Given the description of an element on the screen output the (x, y) to click on. 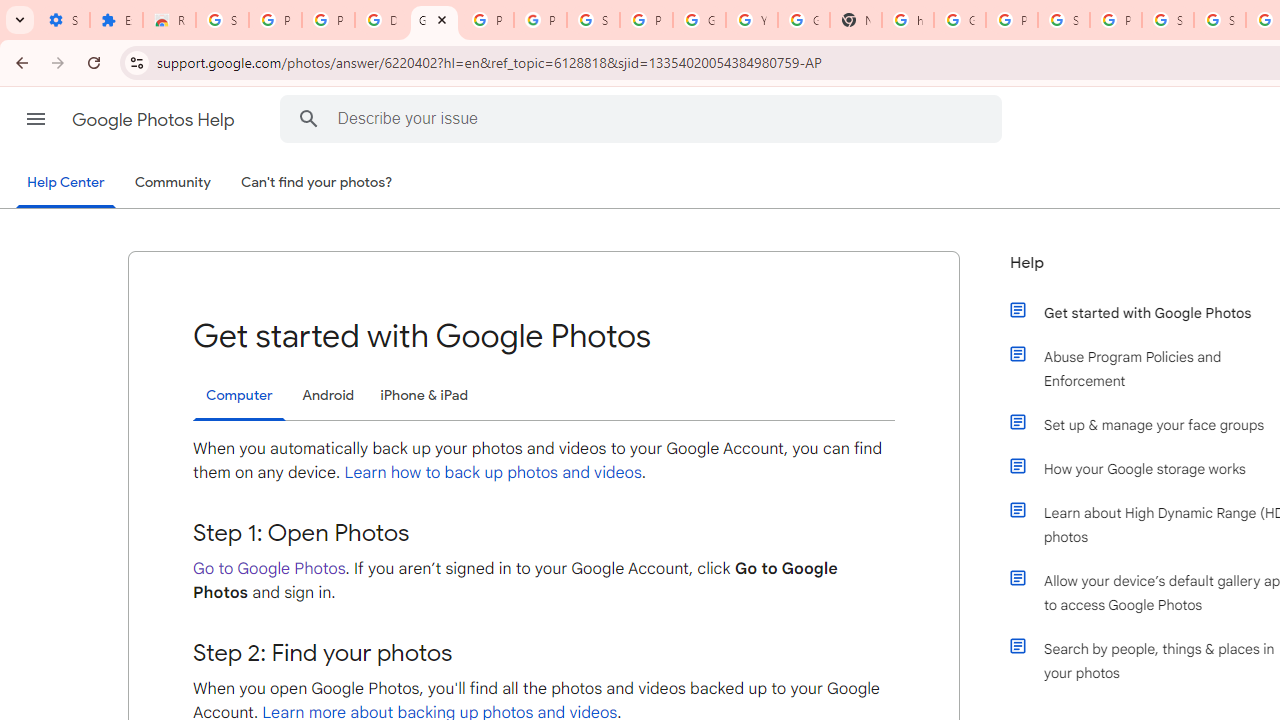
Google Account (699, 20)
https://scholar.google.com/ (907, 20)
Community (171, 183)
Sign in - Google Accounts (593, 20)
Search Help Center (309, 118)
Reviews: Helix Fruit Jump Arcade Game (169, 20)
Delete photos & videos - Computer - Google Photos Help (381, 20)
Sign in - Google Accounts (222, 20)
Help Center (65, 183)
